Given the description of an element on the screen output the (x, y) to click on. 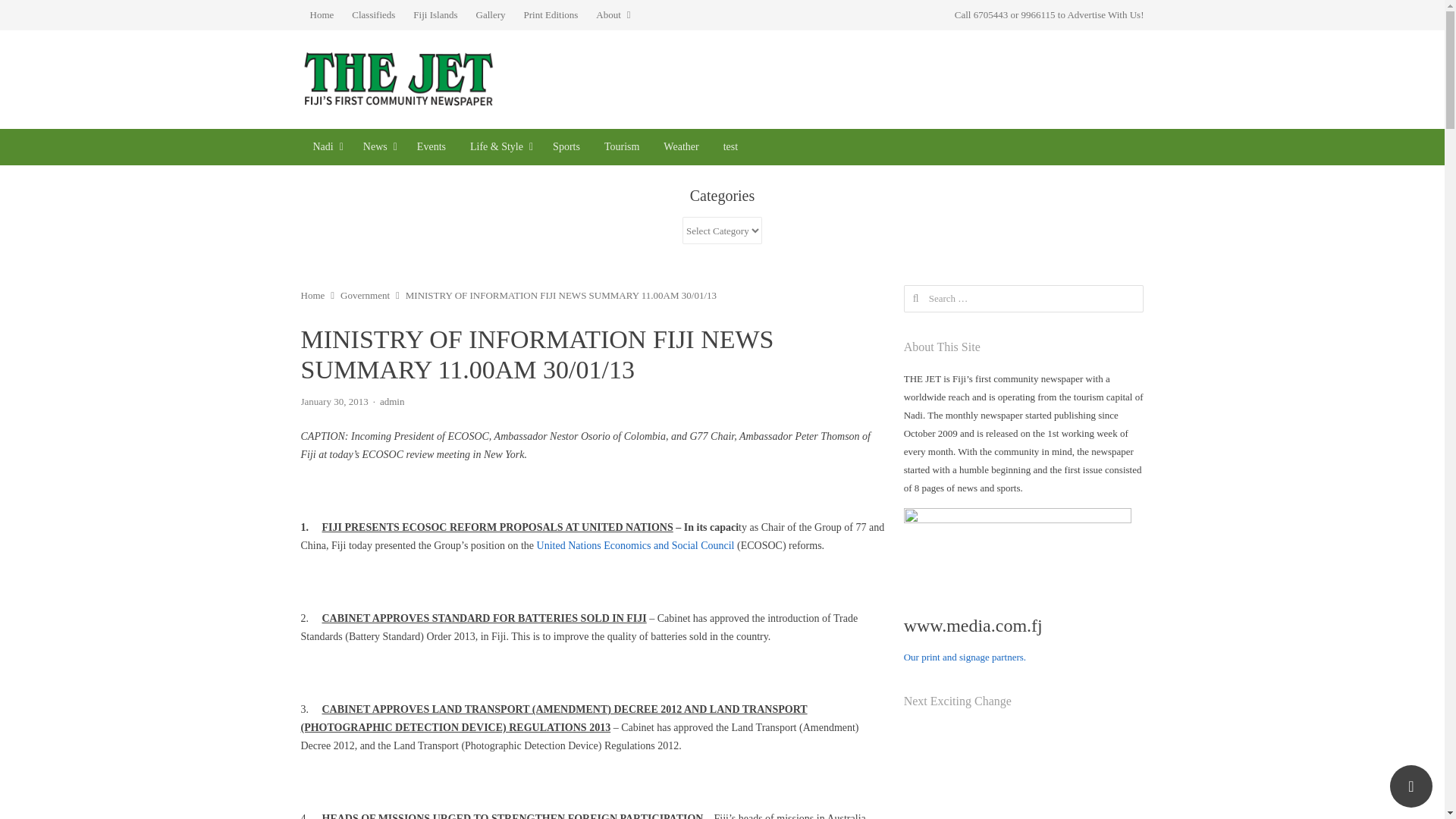
scroll to top (1411, 785)
Events (431, 146)
Home (320, 14)
Sports (566, 146)
admin (392, 401)
Scroll to top (1411, 785)
Fiji Islands (434, 14)
About (612, 14)
Home (311, 295)
News (377, 146)
